Given the description of an element on the screen output the (x, y) to click on. 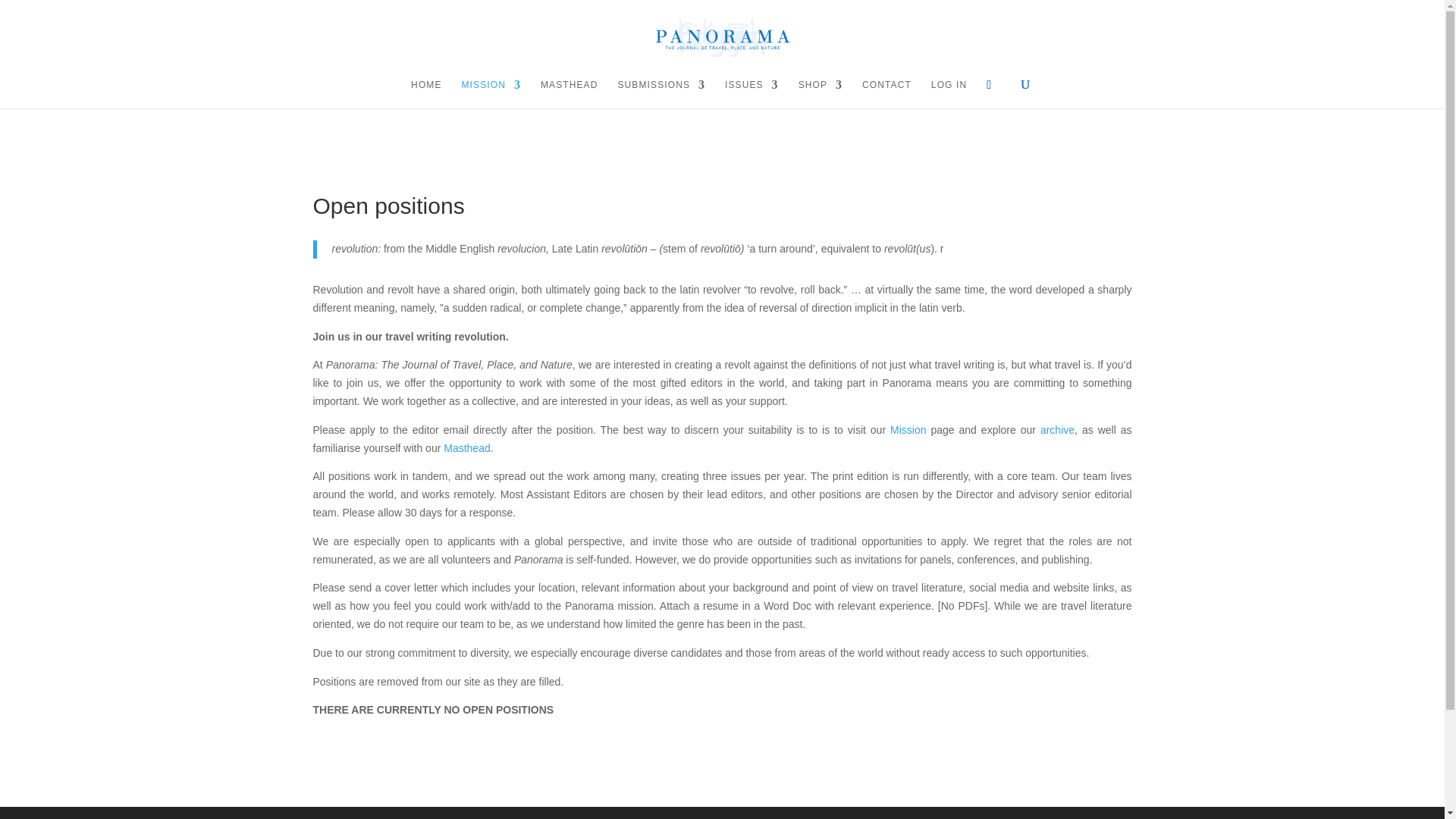
archive (1057, 429)
SHOP (820, 93)
HOME (425, 93)
LOG IN (948, 93)
Masthead (466, 448)
Mission (907, 429)
ISSUES (751, 93)
CONTACT (886, 93)
SUBMISSIONS (660, 93)
MASTHEAD (569, 93)
MISSION (491, 93)
